Given the description of an element on the screen output the (x, y) to click on. 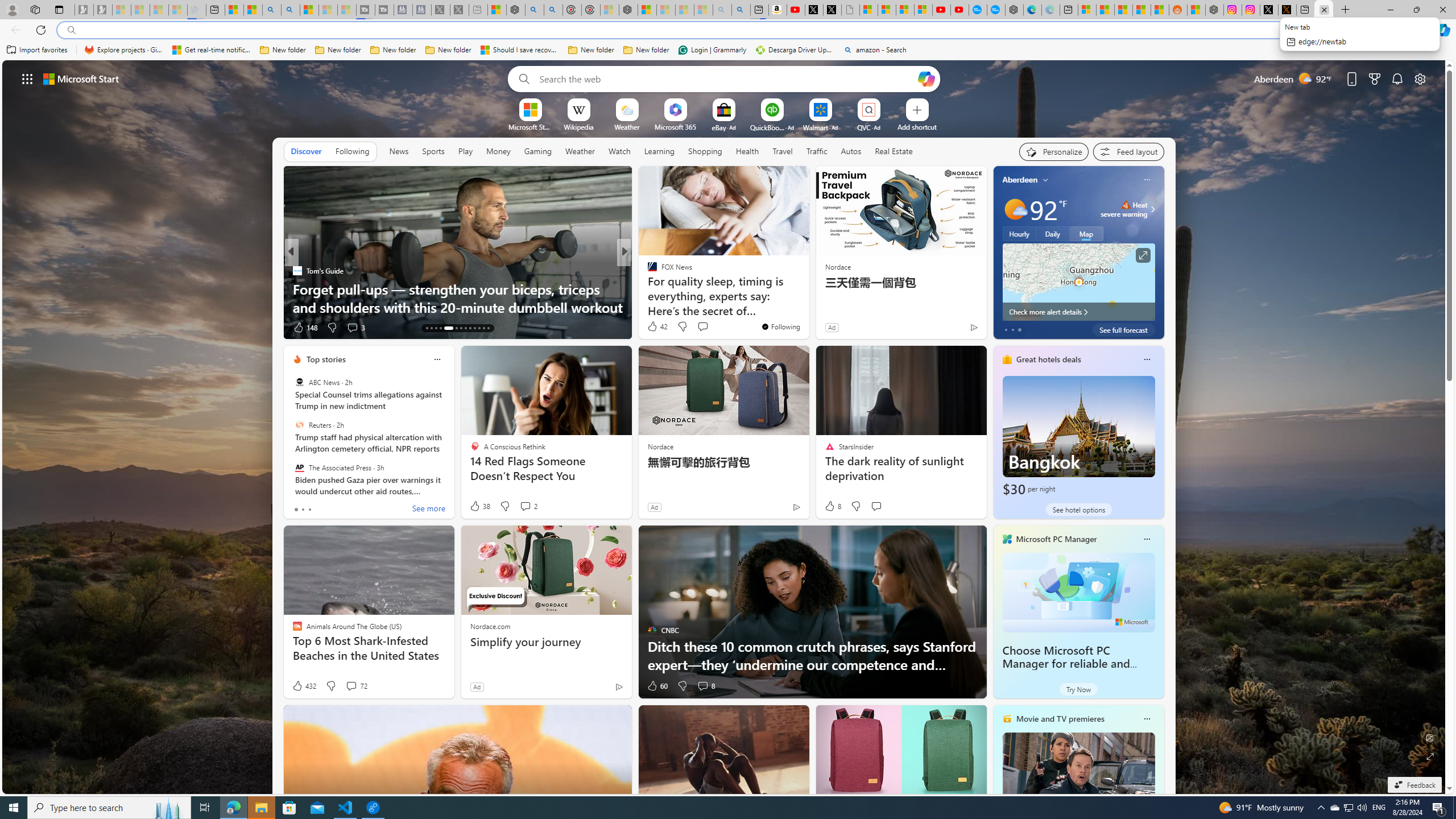
View comments 2 Comment (525, 505)
AutomationID: tab-22 (474, 328)
See full forecast (1123, 329)
Play (465, 151)
Class: weather-arrow-glyph (1152, 208)
94 Like (652, 327)
Tom's Guide (296, 270)
Real Estate (893, 151)
